Given the description of an element on the screen output the (x, y) to click on. 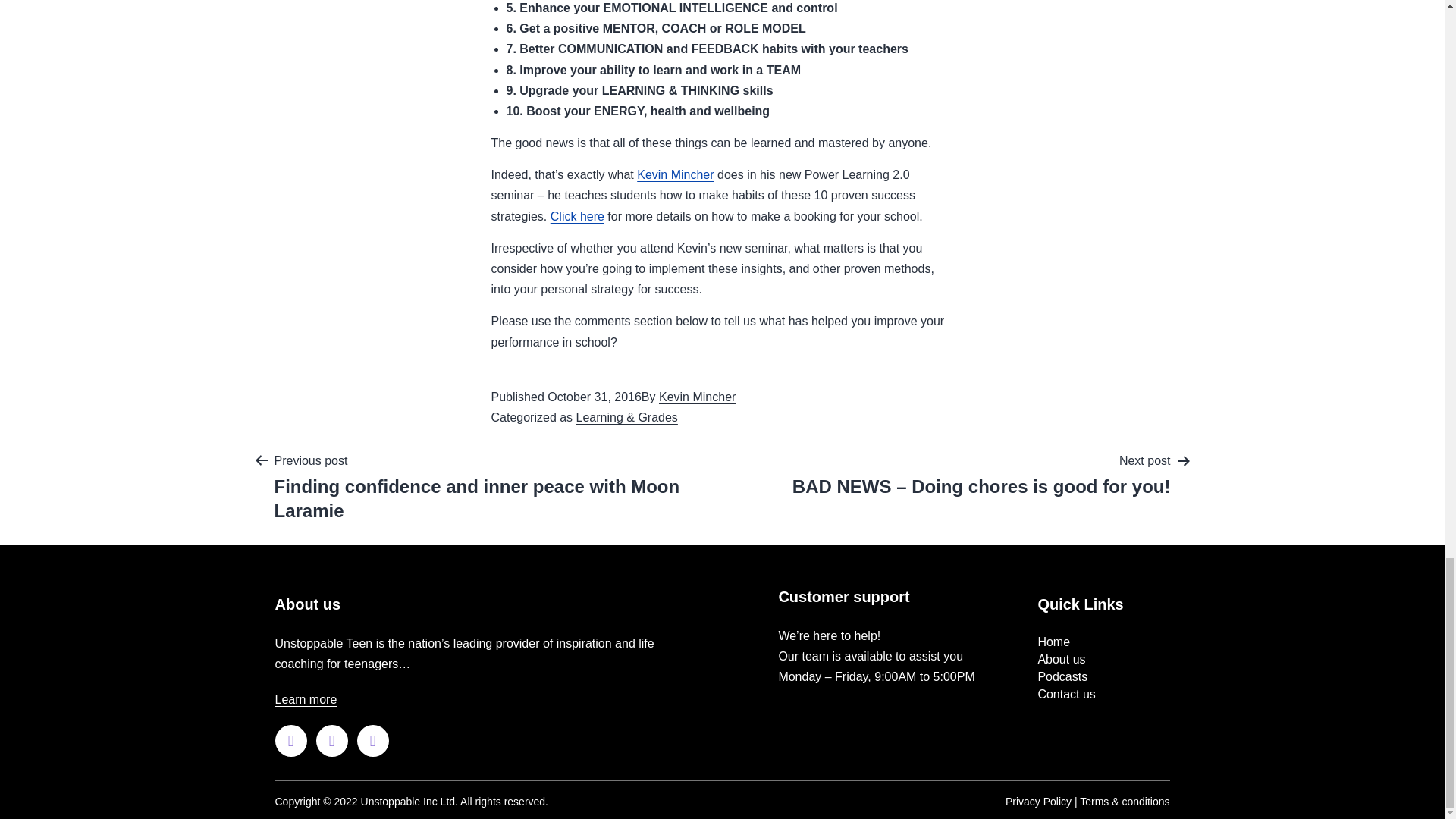
About us (1060, 658)
Kevin Mincher (675, 174)
Privacy Policy (1038, 801)
Home (1053, 641)
Click here (577, 215)
Podcasts (1061, 676)
Kevin Mincher (697, 396)
Learn more (305, 698)
Contact us (1065, 694)
